Given the description of an element on the screen output the (x, y) to click on. 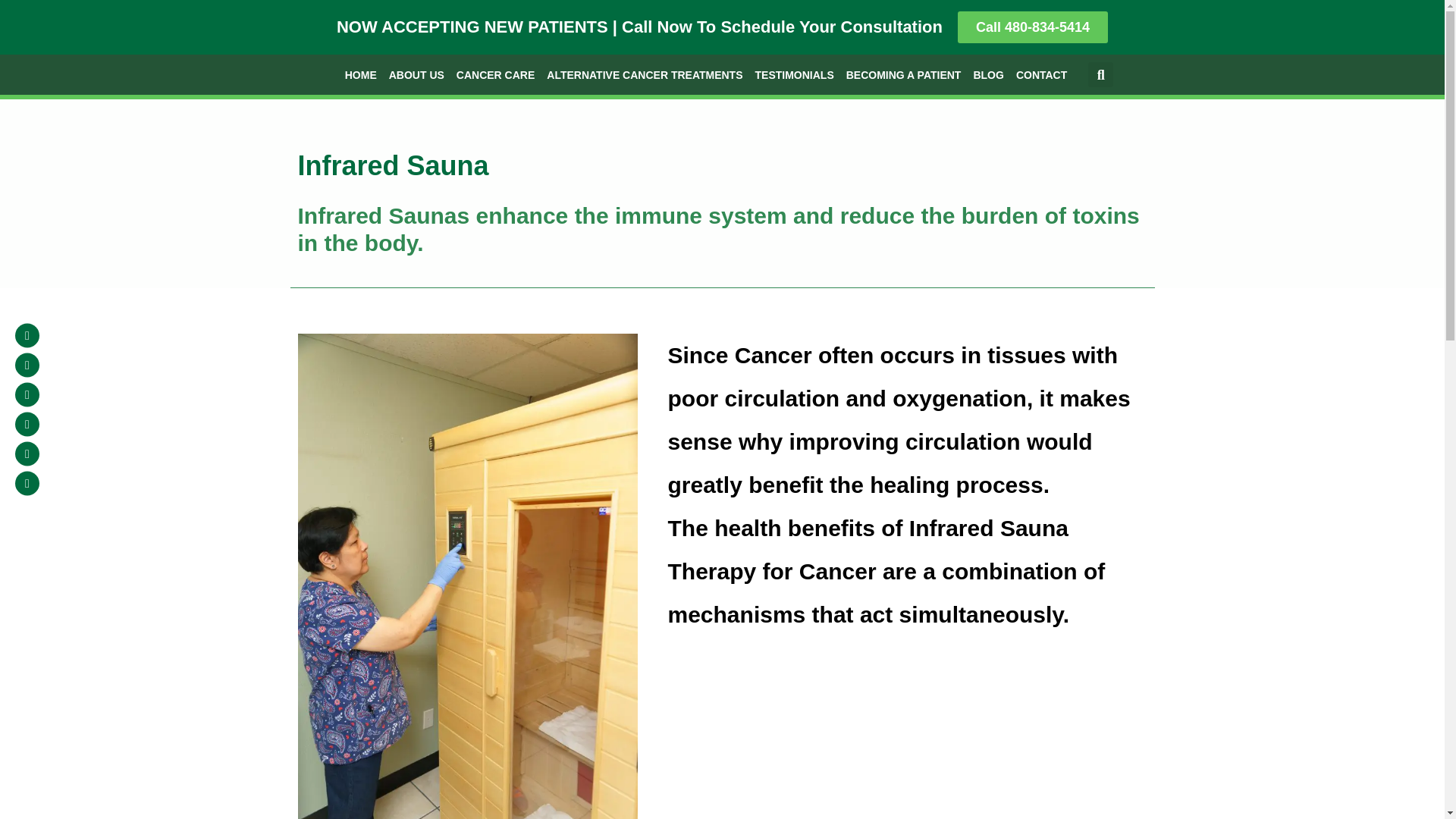
Pinterest (26, 453)
LinkedIn (26, 334)
Youtube (26, 394)
Call 480-834-5414 (1033, 27)
CANCER CARE (494, 74)
Instagram (26, 424)
ABOUT US (415, 74)
Facebook (26, 364)
ALTERNATIVE CANCER TREATMENTS (644, 74)
HOME (360, 74)
